Given the description of an element on the screen output the (x, y) to click on. 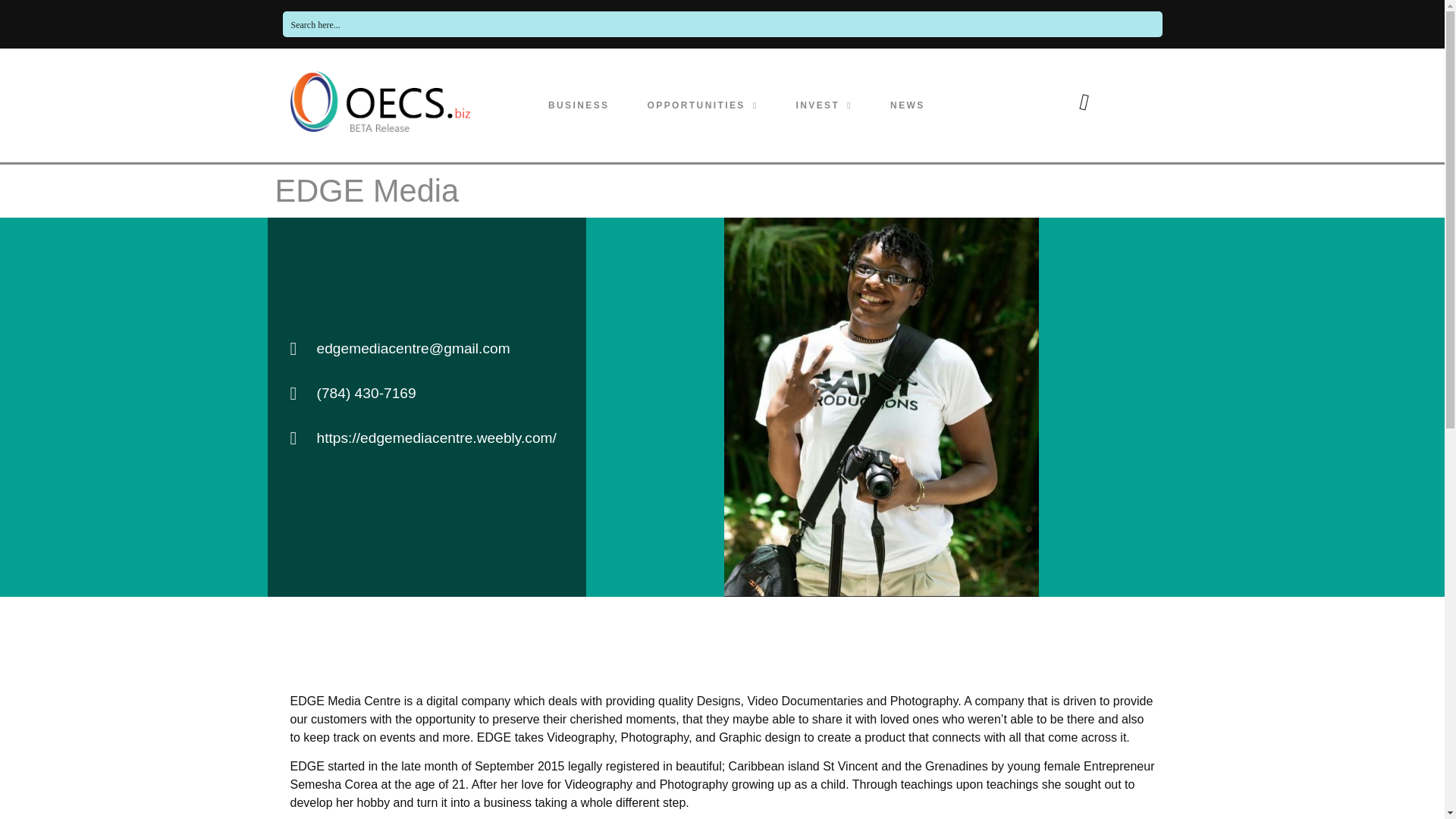
NEWS (907, 104)
INVEST (823, 104)
BUSINESS (578, 104)
OPPORTUNITIES (702, 104)
